Given the description of an element on the screen output the (x, y) to click on. 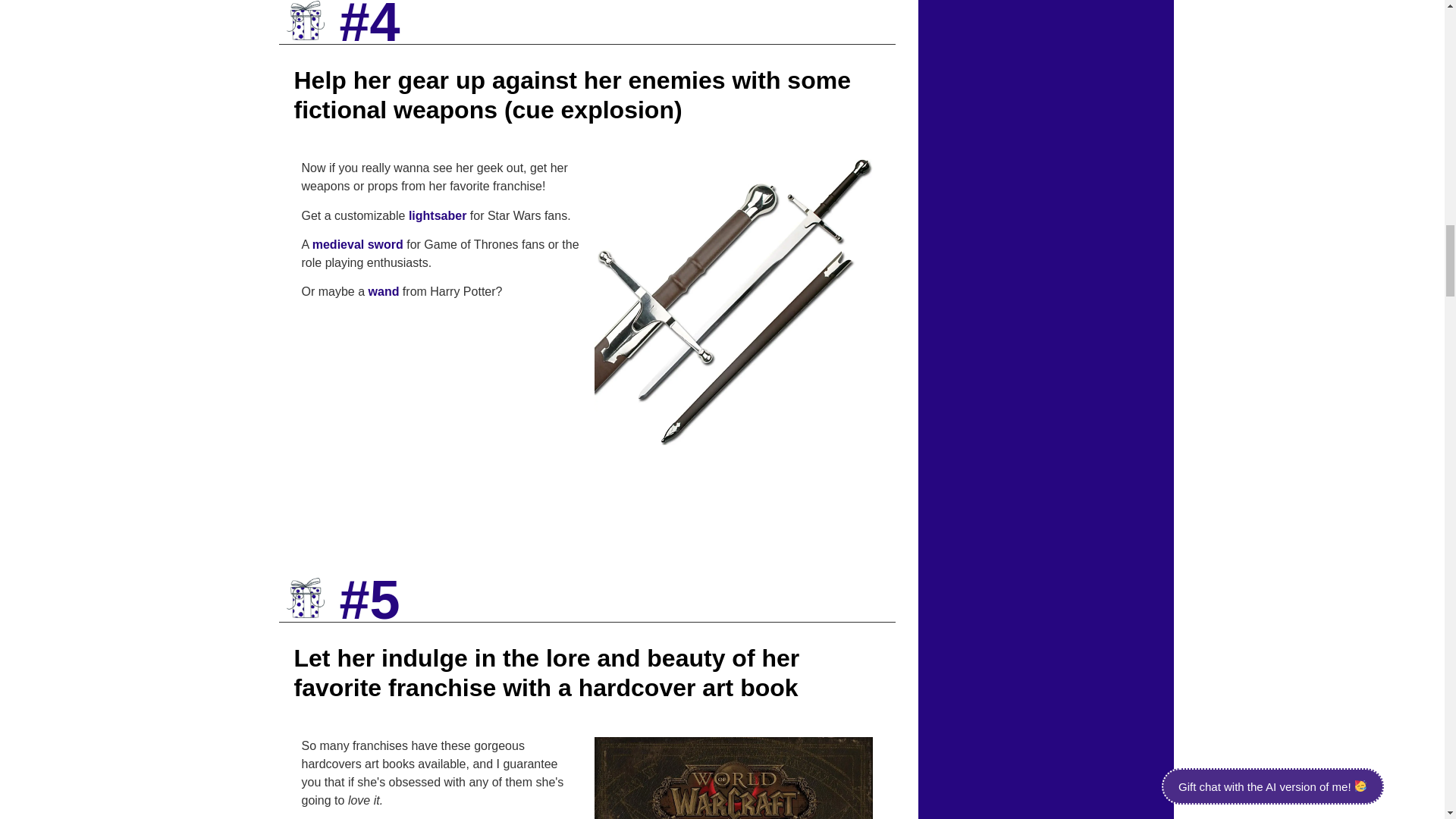
lightsaber (437, 215)
medieval sword (358, 244)
wand (383, 291)
